Given the description of an element on the screen output the (x, y) to click on. 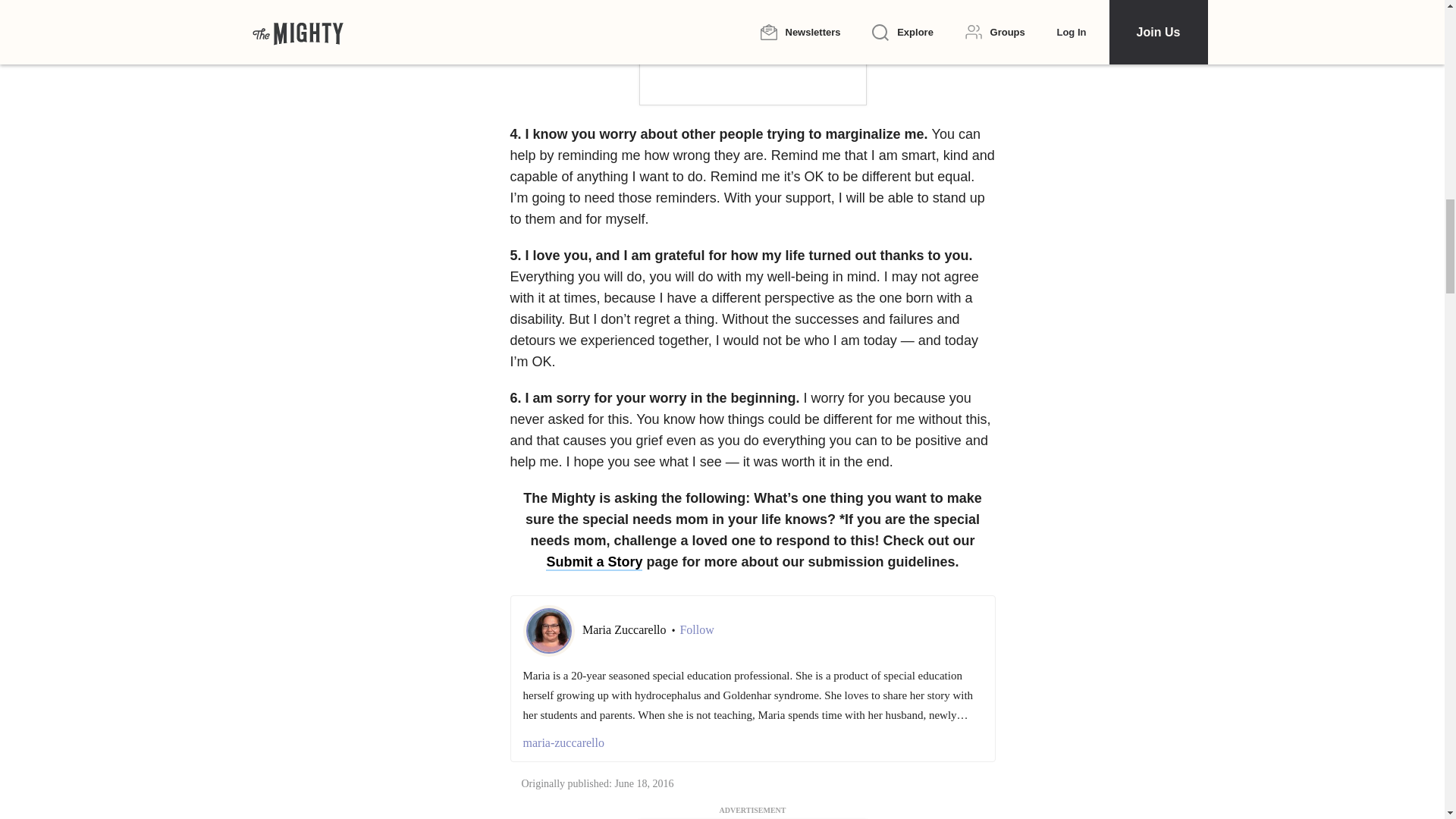
Maria Zuccarello (625, 629)
maria-zuccarello (752, 742)
Submit a Story (760, 573)
Follow (696, 630)
